Given the description of an element on the screen output the (x, y) to click on. 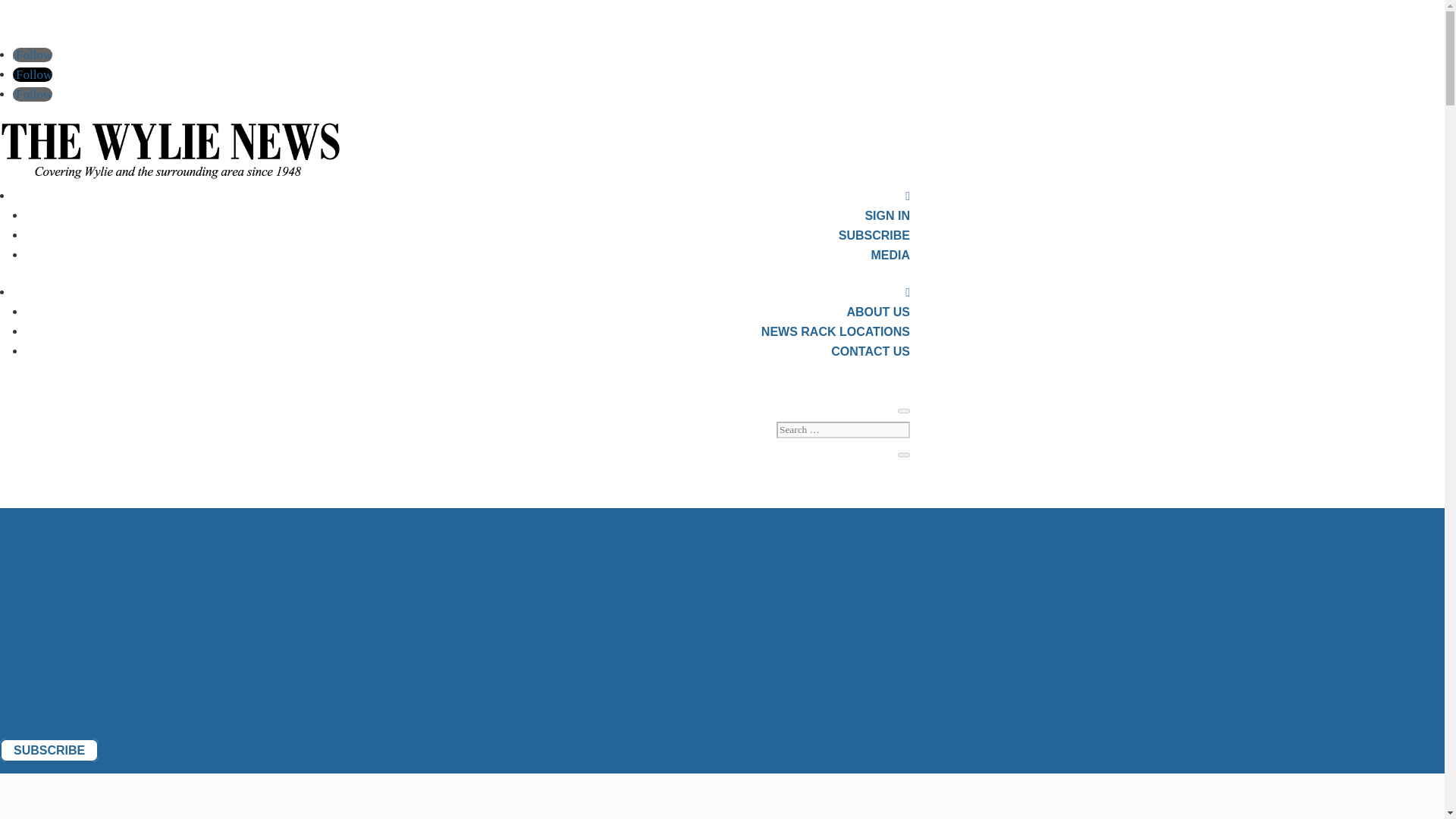
CONTACT US (870, 350)
Follow on Instagram (32, 93)
NEWS RACK LOCATIONS (835, 331)
SUBSCRIBE (874, 235)
SIGN IN (887, 215)
MEDIA (890, 254)
Follow (32, 74)
Follow (32, 93)
Search for: (843, 429)
ABOUT US (877, 311)
Follow on X (32, 74)
logo-wylie-news-plus-tagline (170, 150)
Follow (32, 54)
Follow on Facebook (32, 54)
